Given the description of an element on the screen output the (x, y) to click on. 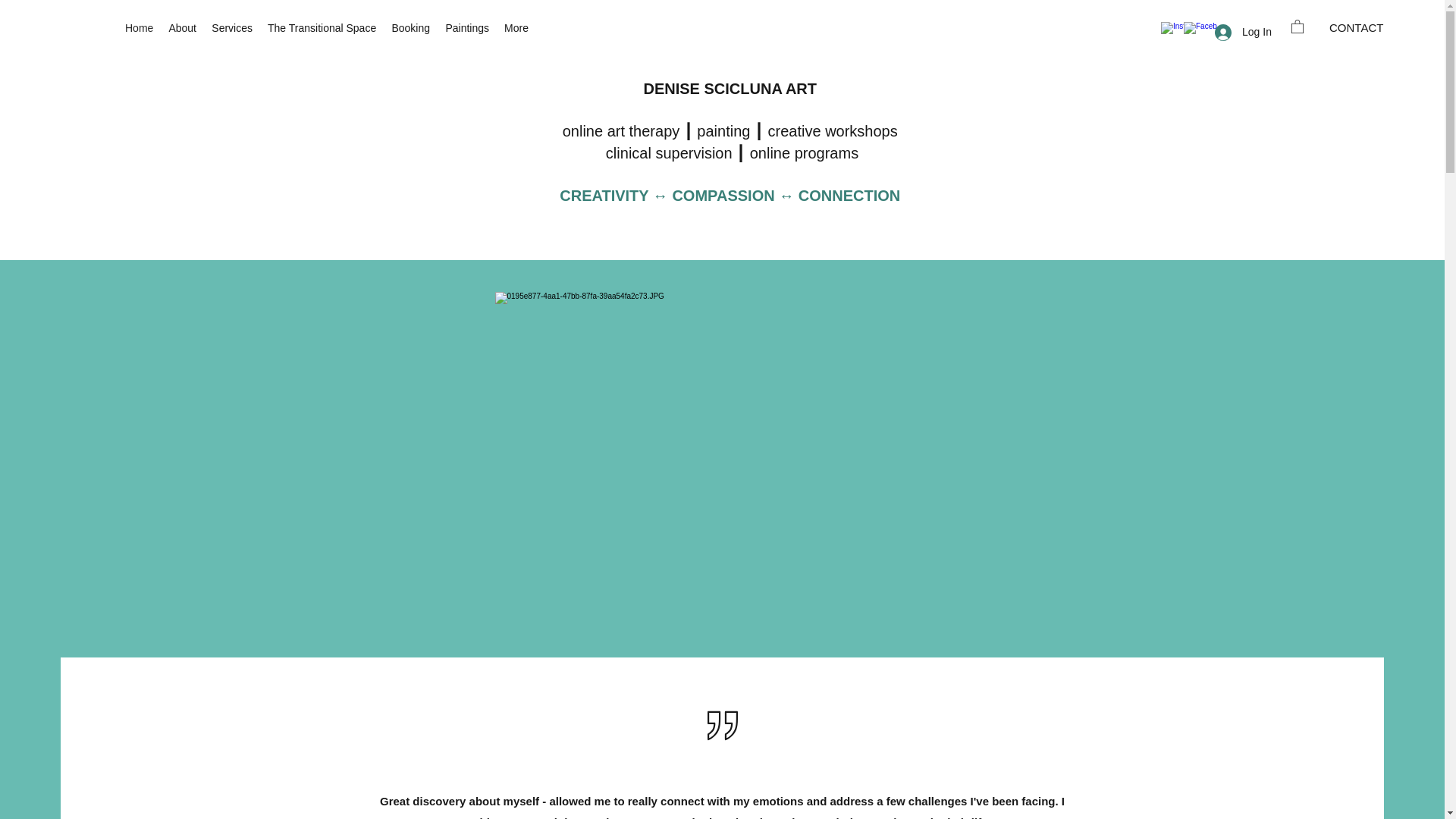
Services (231, 27)
Booking (411, 27)
About (181, 27)
CONTACT (1356, 27)
Home (138, 27)
DENISE SCICLUNA ART (729, 88)
The Transitional Space (322, 27)
Paintings (467, 27)
Log In (1236, 31)
